Given the description of an element on the screen output the (x, y) to click on. 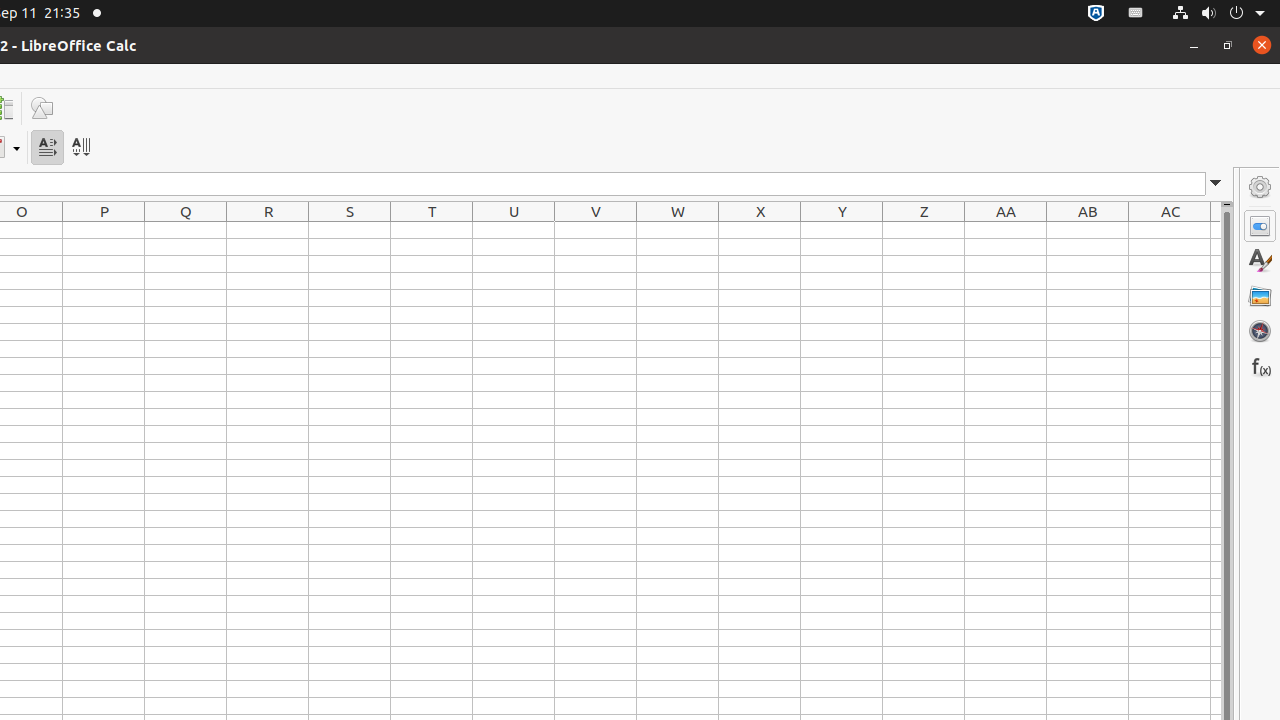
S1 Element type: table-cell (350, 230)
R1 Element type: table-cell (268, 230)
AD1 Element type: table-cell (1216, 230)
P1 Element type: table-cell (104, 230)
Navigator Element type: radio-button (1260, 331)
